Given the description of an element on the screen output the (x, y) to click on. 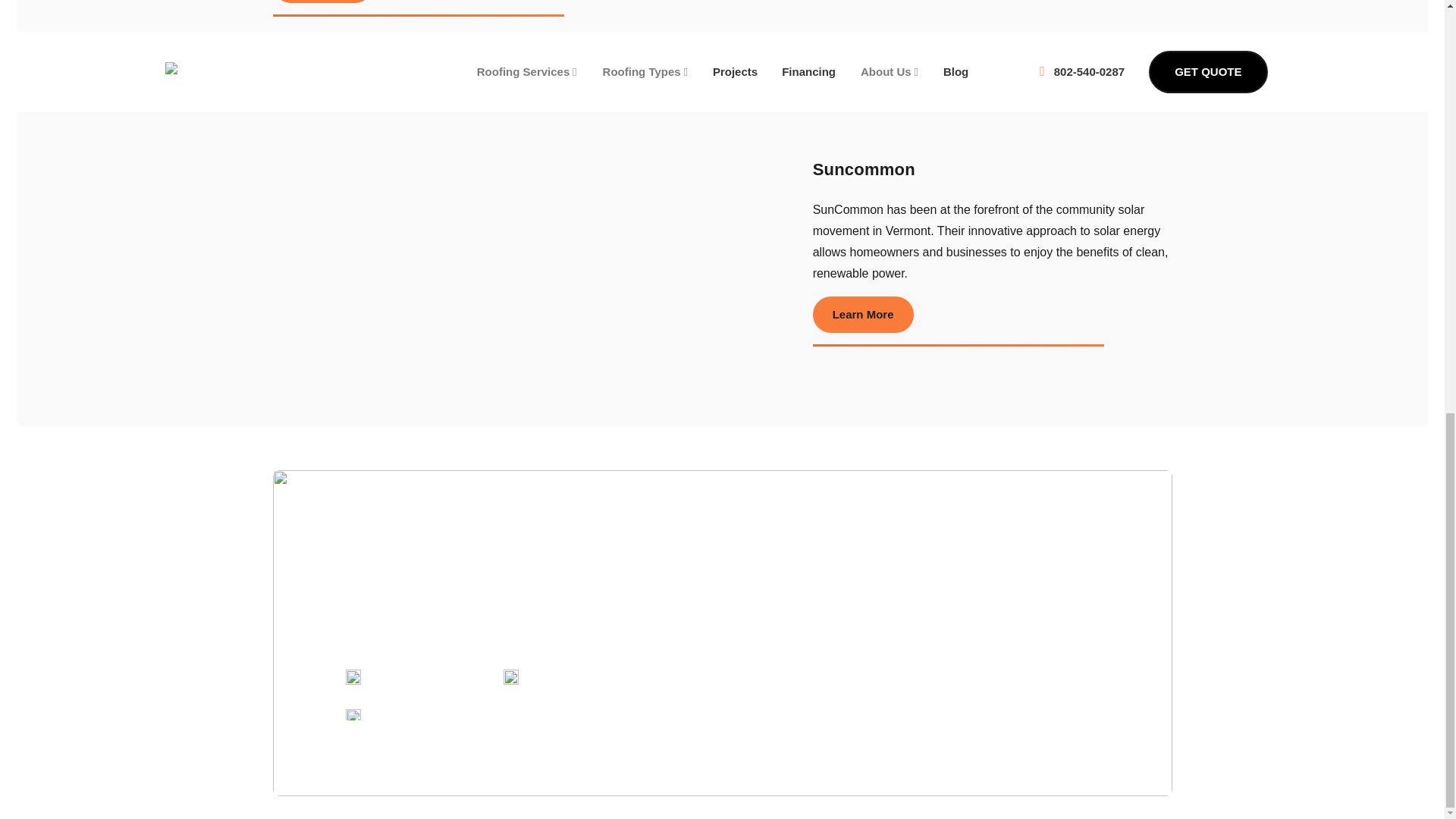
Learn More (323, 1)
Learn More (863, 314)
802-540-0287 (405, 676)
366 Troy Ave, Colchester, VT 05446 (615, 676)
